Given the description of an element on the screen output the (x, y) to click on. 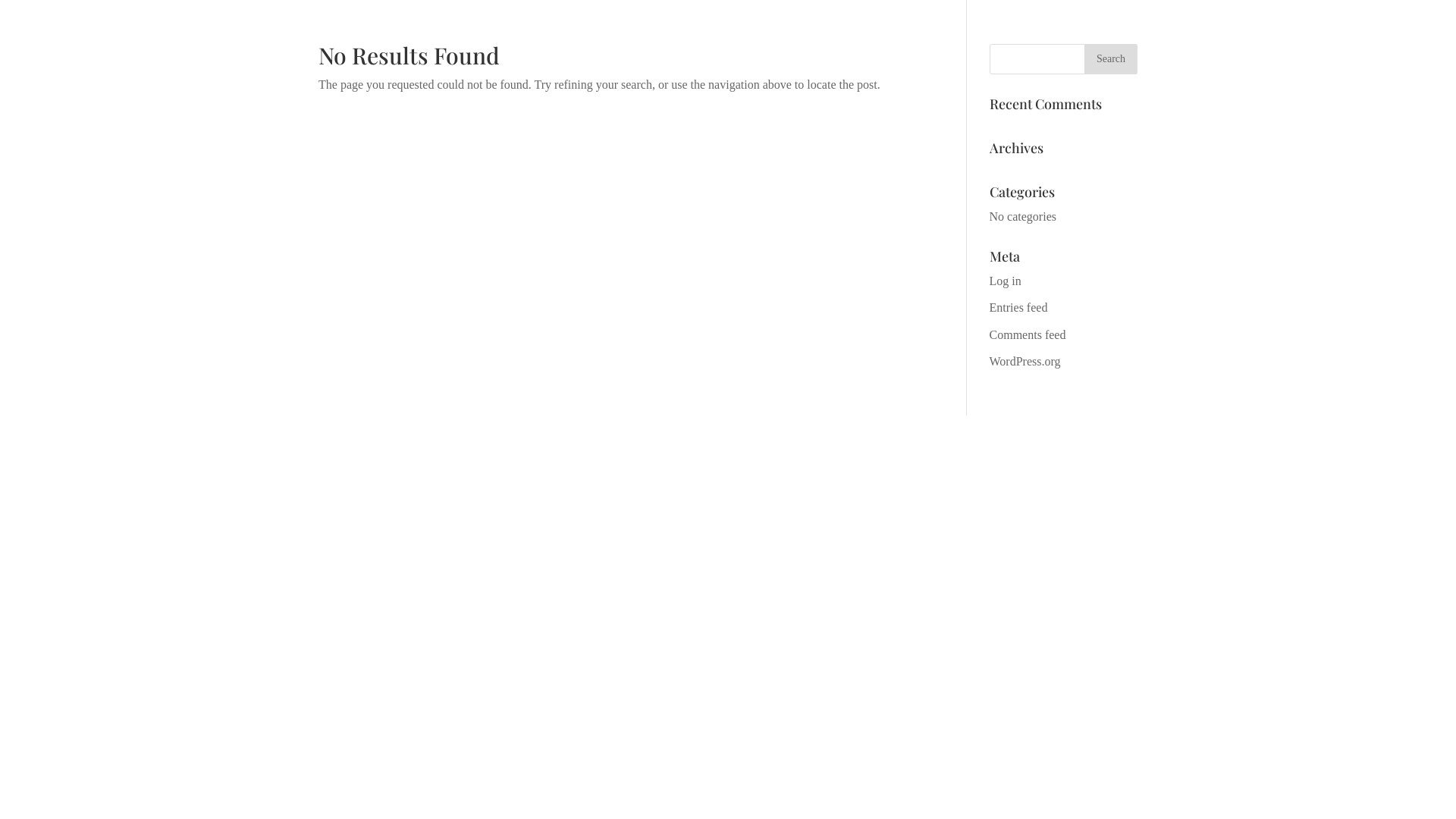
WordPress.org Element type: text (1024, 360)
Entries feed Element type: text (1018, 307)
Comments feed Element type: text (1027, 334)
Search Element type: text (1110, 58)
Log in Element type: text (1005, 280)
